Given the description of an element on the screen output the (x, y) to click on. 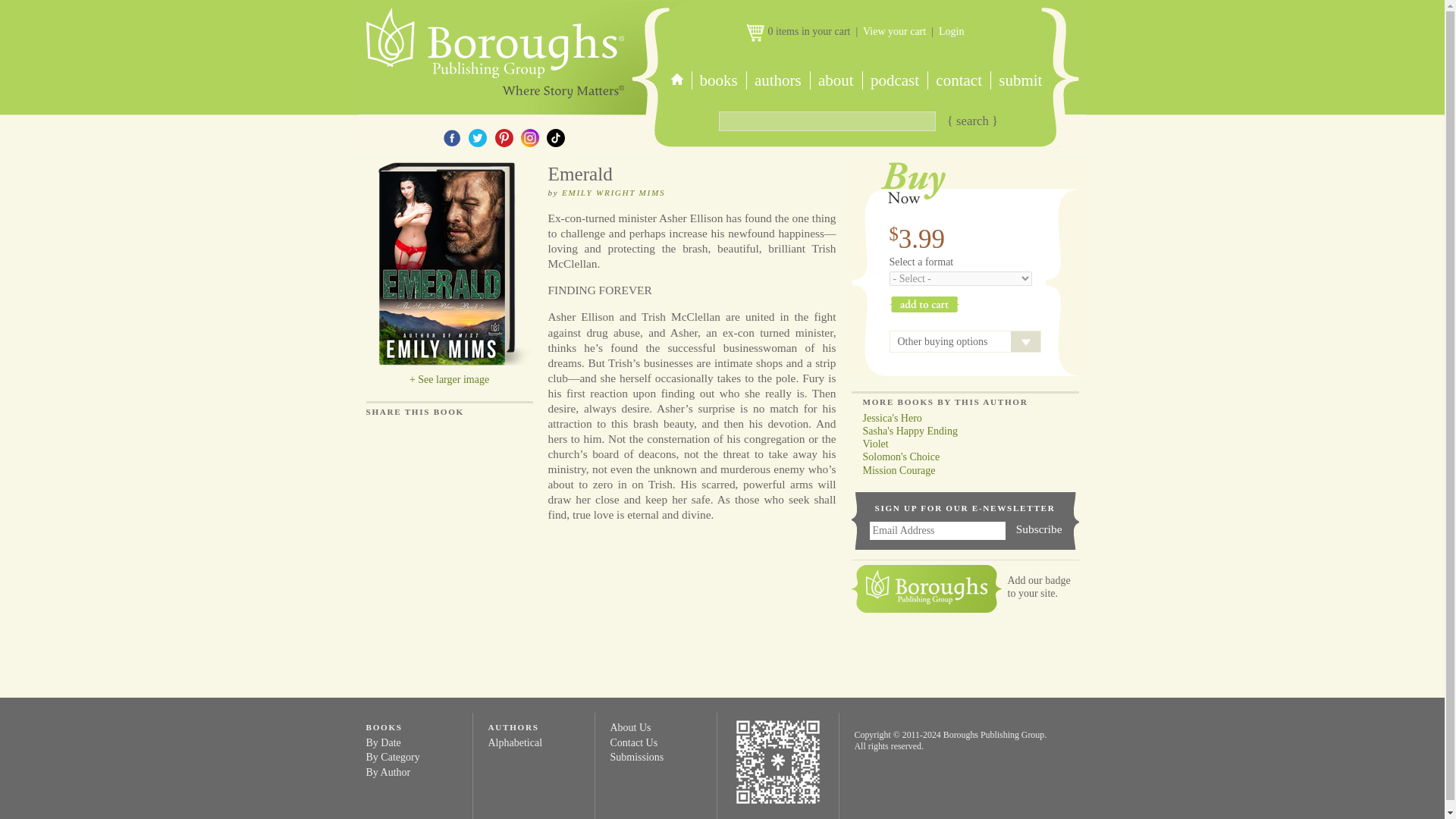
EMILY WRIGHT MIMS (613, 192)
podcast (893, 80)
Emerald (448, 266)
Solomon's Choice (894, 456)
Sasha's Happy Ending (903, 430)
submit (1019, 80)
View your cart (894, 30)
Alphabetical (515, 742)
By Category (392, 756)
Jessica's Hero (885, 418)
Emerald (448, 387)
Home (493, 49)
books (718, 80)
